Given the description of an element on the screen output the (x, y) to click on. 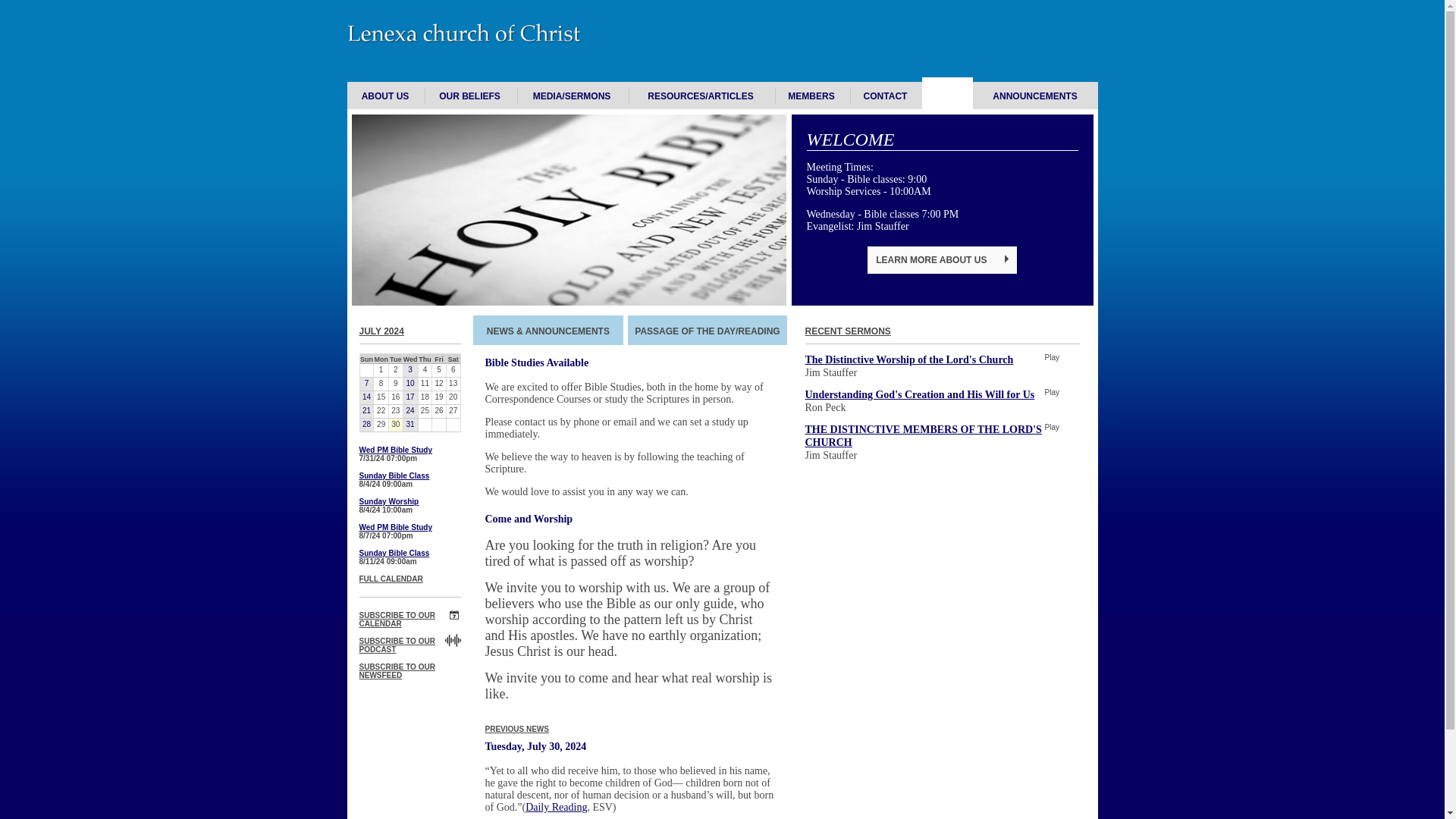
ABOUT US (385, 95)
24 (410, 410)
10 (410, 383)
Sunday Bible Class (394, 475)
21 (365, 410)
3 (410, 369)
17 (410, 397)
LEARN MORE ABOUT US (941, 259)
MEMBERS (810, 95)
ANNOUNCEMENTS (1034, 95)
31 (410, 424)
7 (365, 383)
JULY 2024 (381, 330)
CONTACT (884, 95)
Wed PM Bible Study (395, 449)
